Given the description of an element on the screen output the (x, y) to click on. 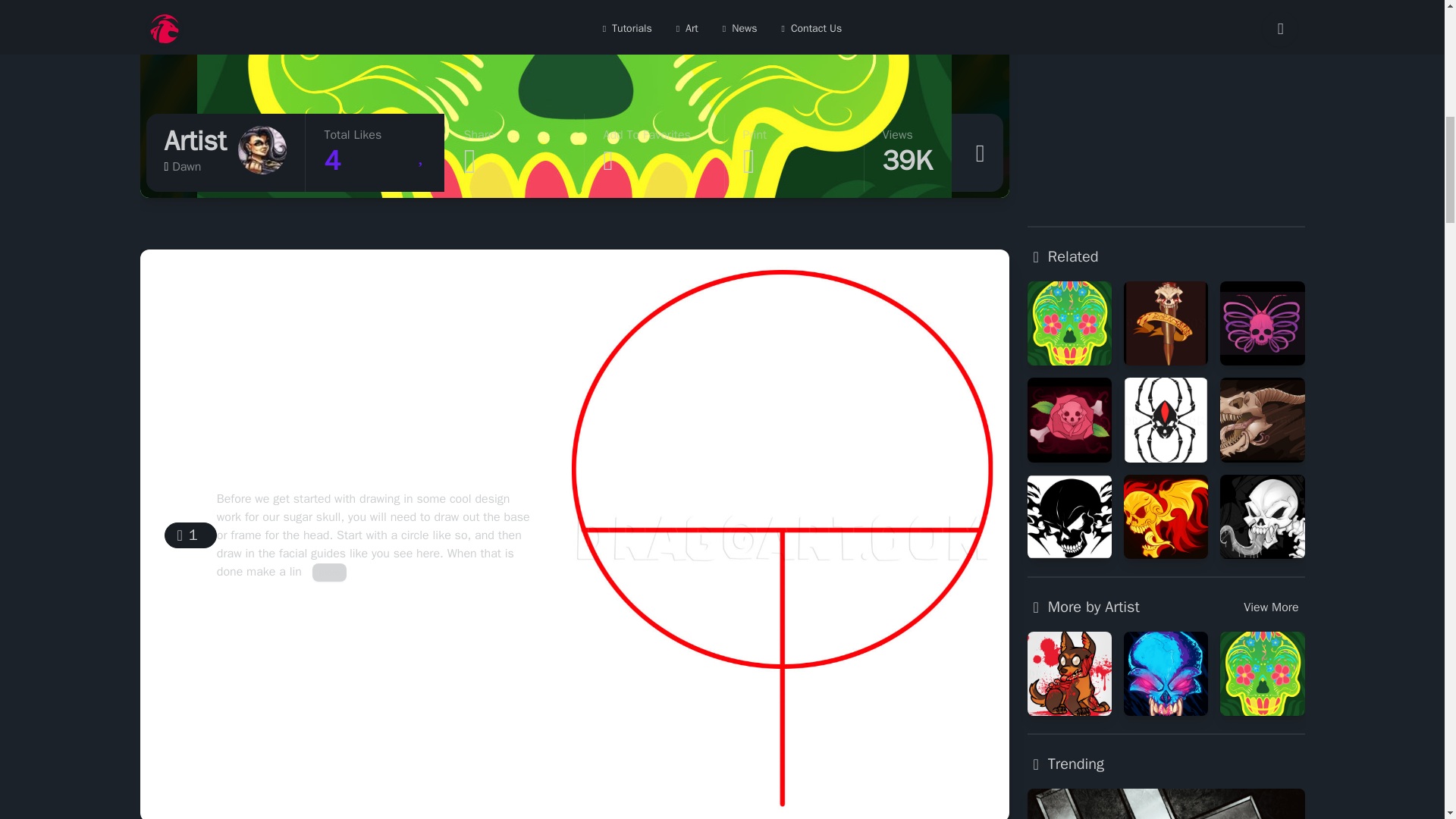
more (374, 152)
